Given the description of an element on the screen output the (x, y) to click on. 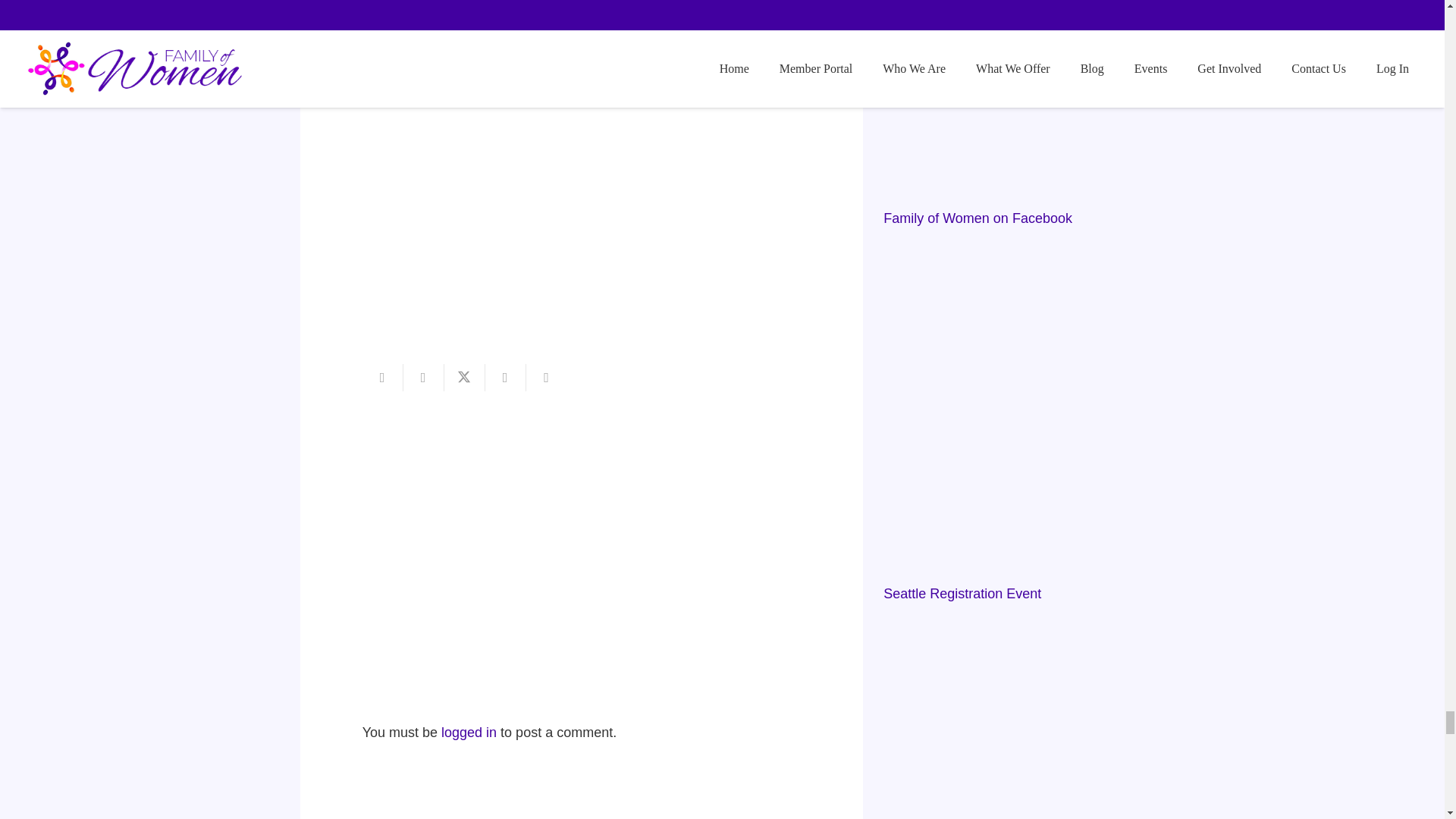
Pin this (546, 377)
Share this (423, 377)
Share this (504, 377)
Email this (382, 377)
Tweet this (464, 377)
